Given the description of an element on the screen output the (x, y) to click on. 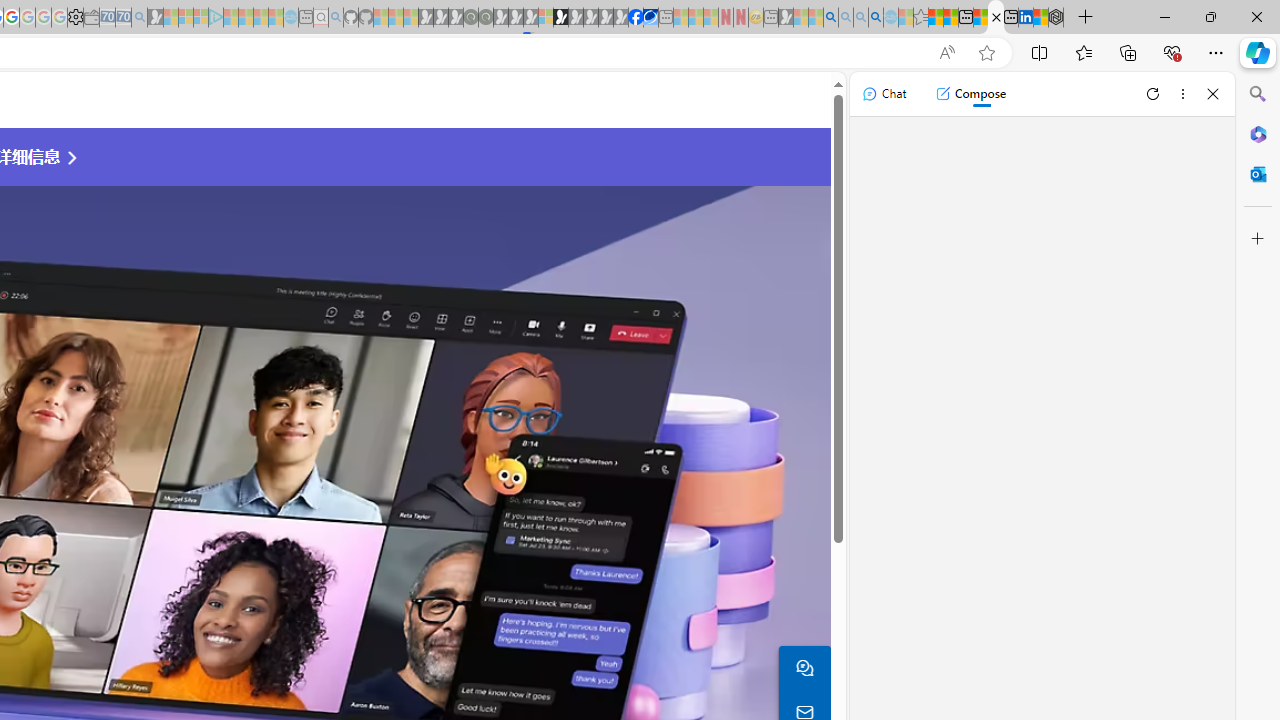
Sign in to your account - Sleeping (545, 17)
MSN - Sleeping (786, 17)
